Given the description of an element on the screen output the (x, y) to click on. 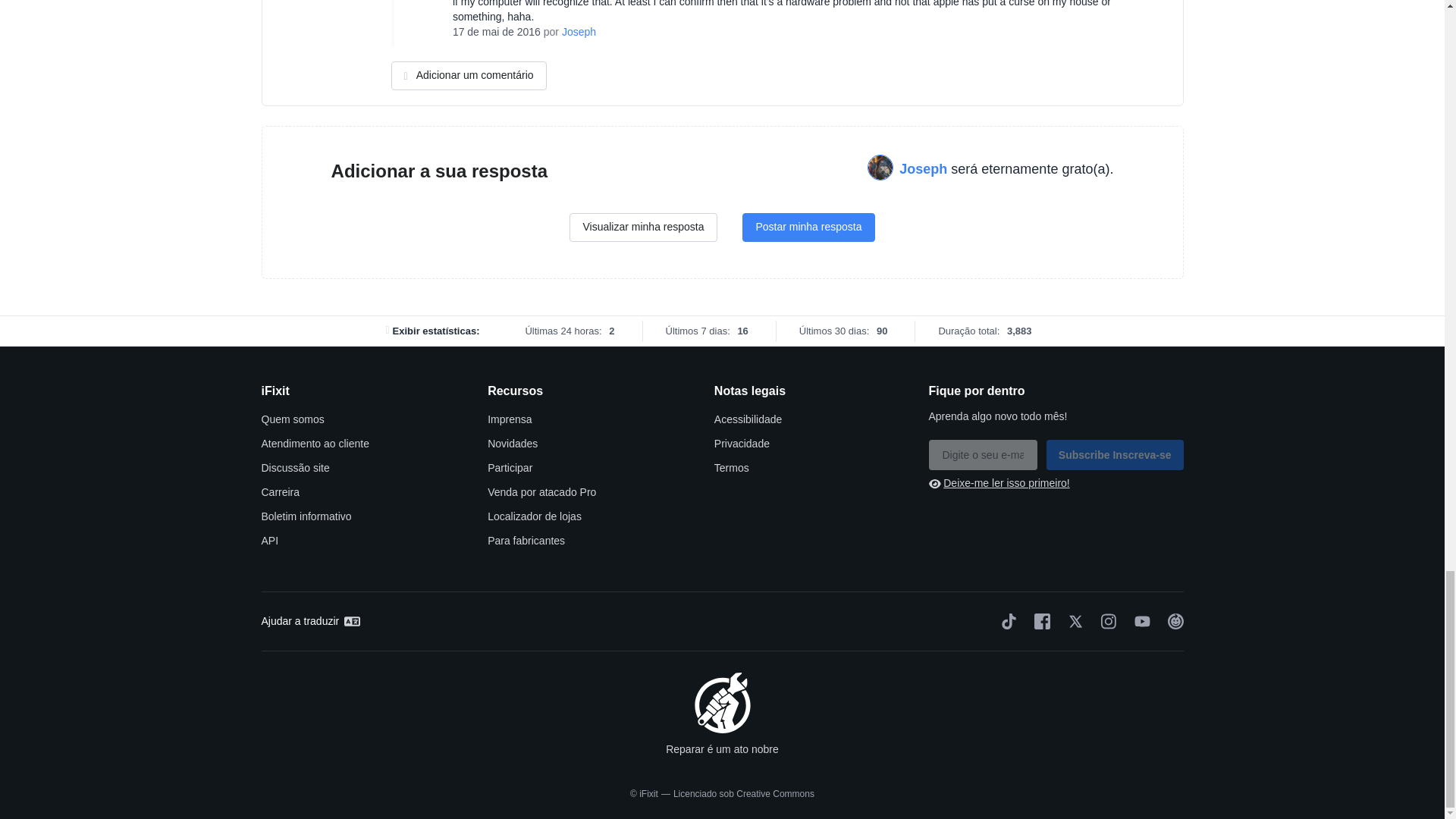
Tue, 17 May 2016 08:23:33 -0700 (496, 31)
